Given the description of an element on the screen output the (x, y) to click on. 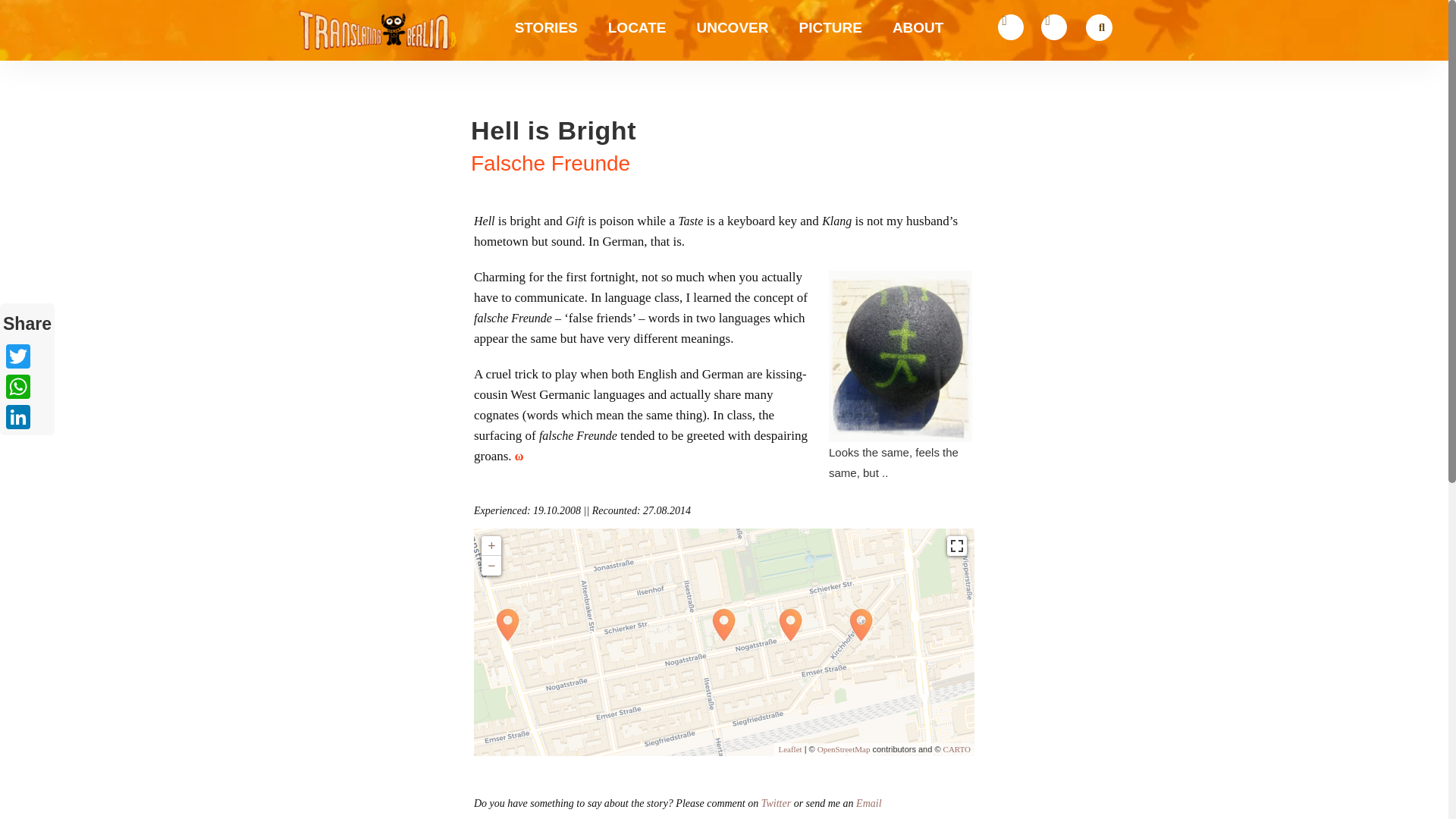
View Fullscreen (956, 546)
Zoom in (490, 546)
A JS library for interactive maps (789, 748)
WhatsApp (26, 386)
Search (1096, 29)
ABOUT (918, 2)
Zoom out (490, 565)
Twitter (26, 356)
